Given the description of an element on the screen output the (x, y) to click on. 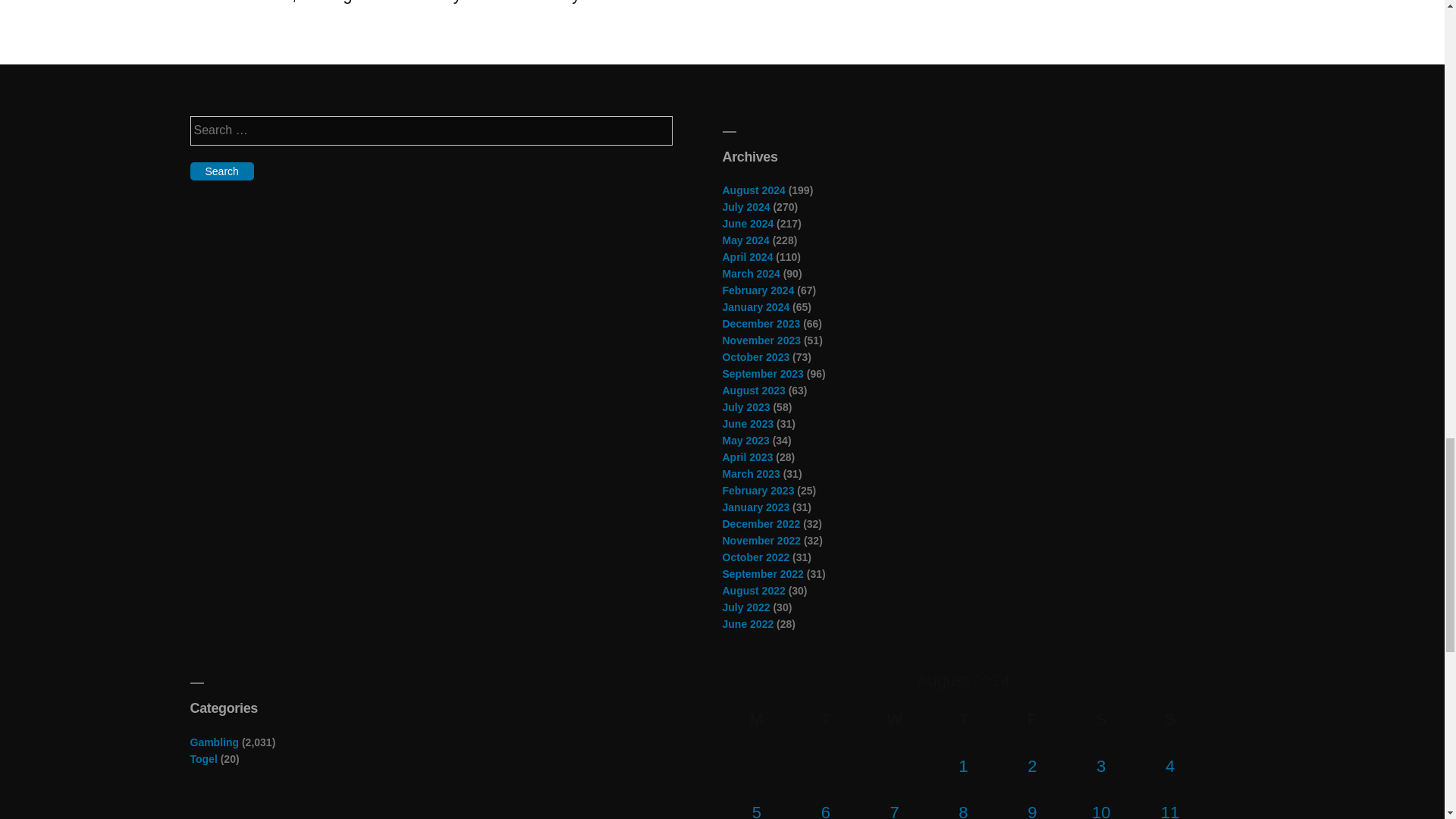
Monday (756, 719)
Tuesday (825, 719)
Wednesday (894, 719)
Search (221, 171)
Thursday (962, 719)
August 2022 (753, 590)
April 2023 (747, 457)
June 2023 (747, 423)
July 2022 (746, 607)
November 2022 (761, 540)
